Given the description of an element on the screen output the (x, y) to click on. 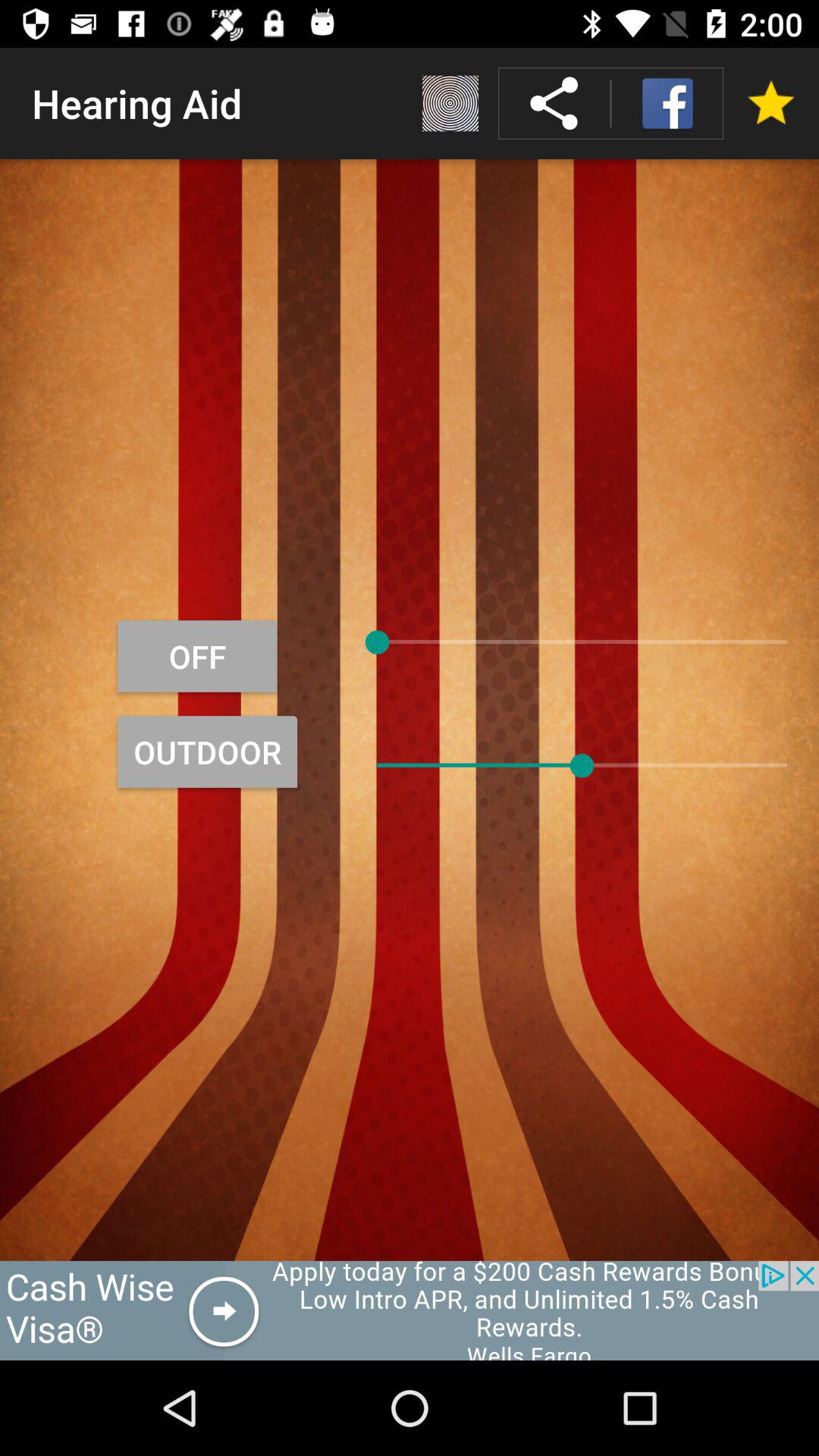
rewards advertisement window (409, 1310)
